Given the description of an element on the screen output the (x, y) to click on. 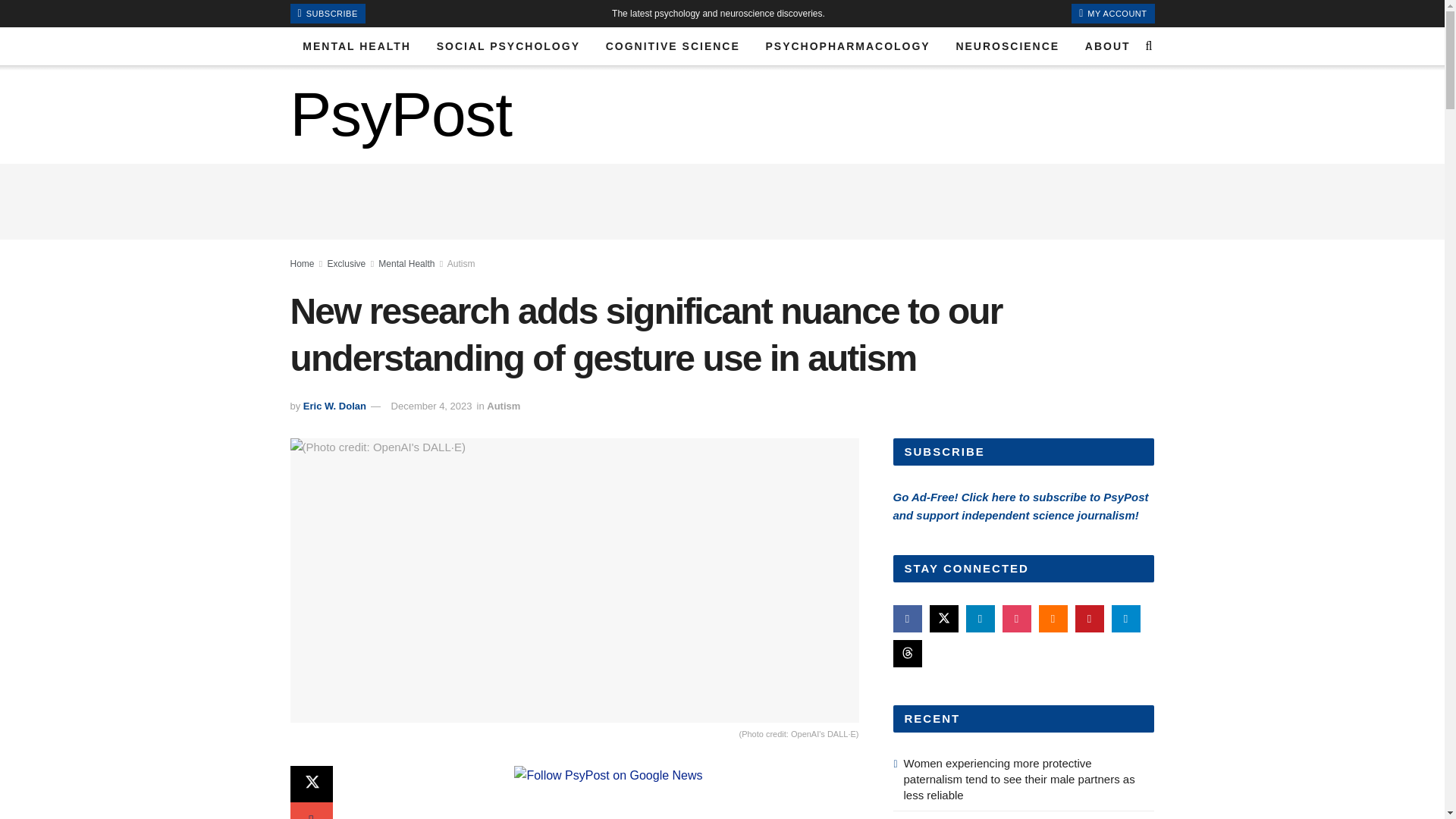
Mental Health (405, 263)
Exclusive (346, 263)
Eric W. Dolan (334, 405)
PSYCHOPHARMACOLOGY (847, 46)
PsyPost (400, 114)
Autism (461, 263)
MENTAL HEALTH (356, 46)
MY ACCOUNT (1112, 13)
NEUROSCIENCE (1007, 46)
December 4, 2023 (431, 405)
COGNITIVE SCIENCE (672, 46)
SOCIAL PSYCHOLOGY (507, 46)
SUBSCRIBE (327, 13)
Autism (502, 405)
Home (301, 263)
